Given the description of an element on the screen output the (x, y) to click on. 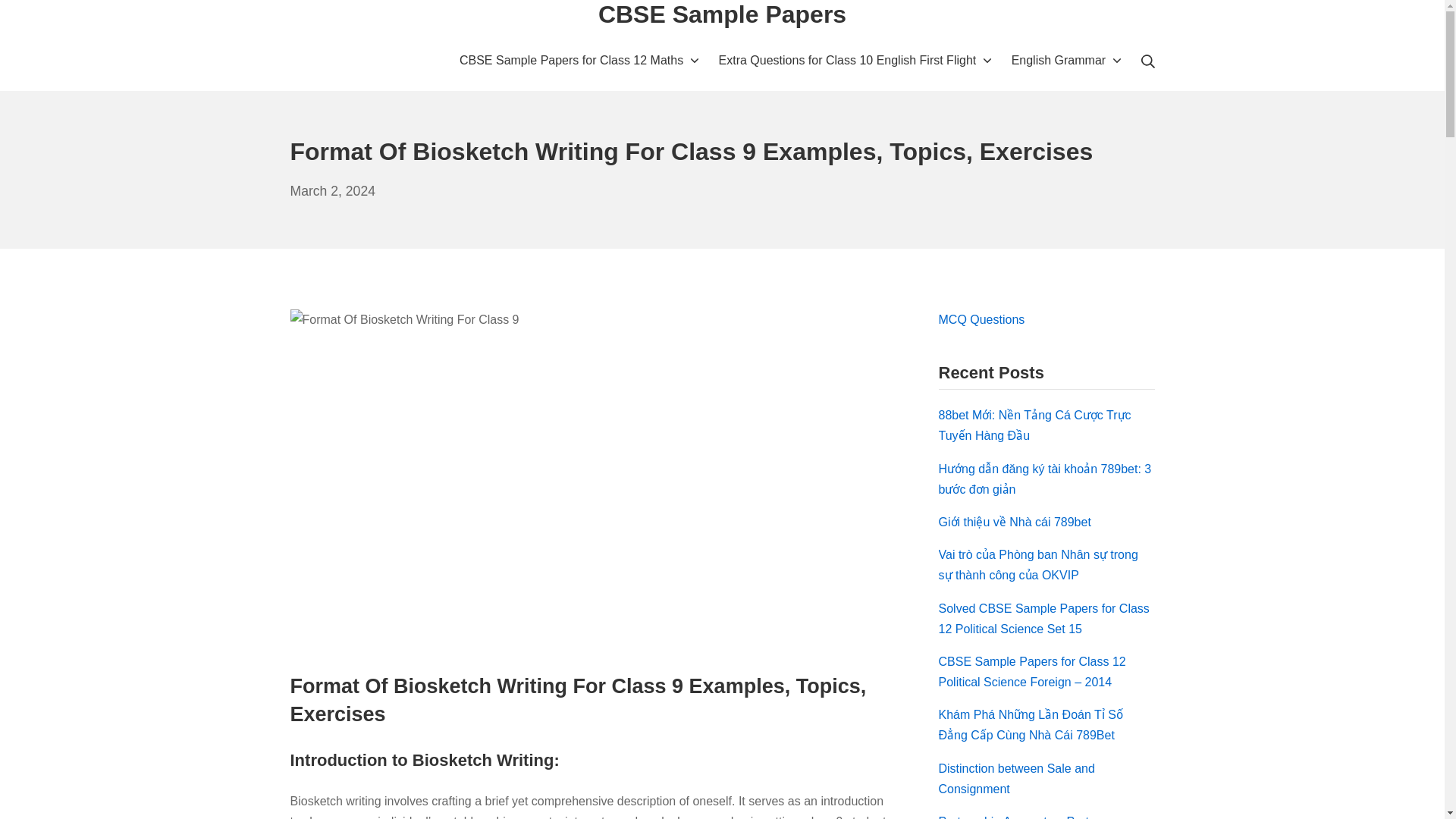
CBSE Sample Papers (721, 15)
English Grammar (1066, 59)
CBSE Sample Papers for Class 12 Maths (331, 191)
Extra Questions for Class 10 English First Flight (580, 59)
MCQ Questions (855, 59)
Search (982, 318)
